Given the description of an element on the screen output the (x, y) to click on. 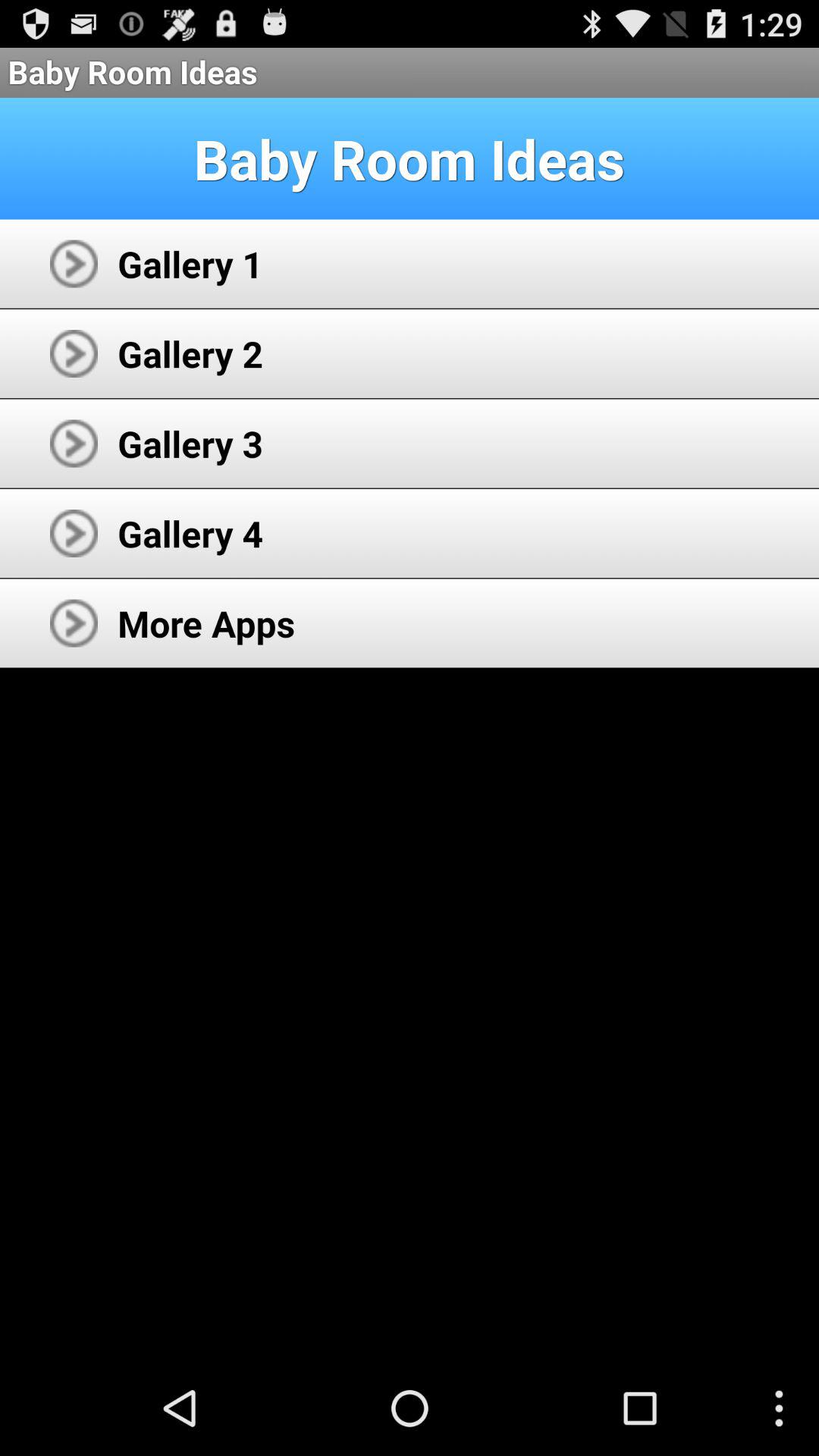
choose the item above more apps item (190, 533)
